Given the description of an element on the screen output the (x, y) to click on. 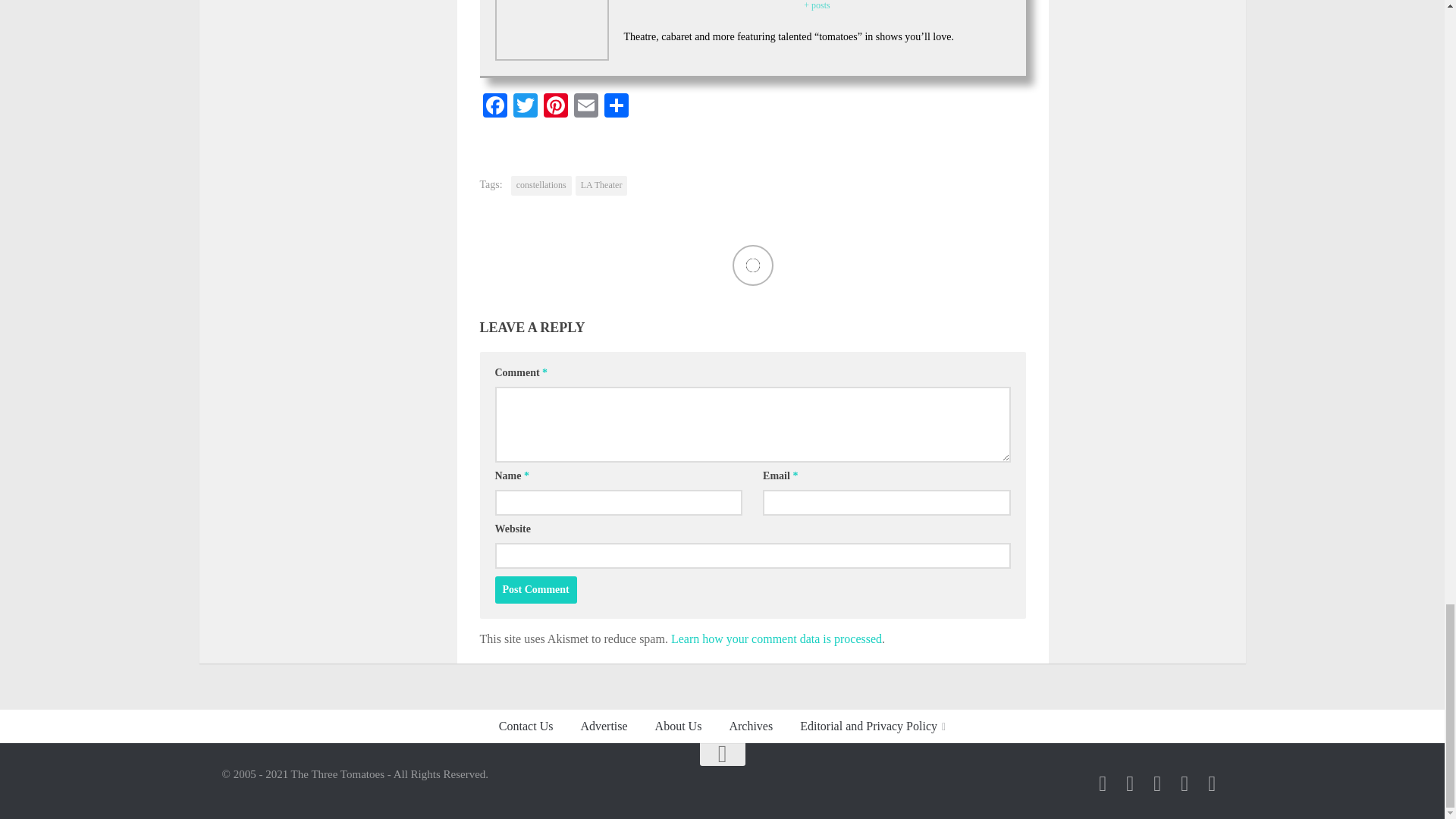
Email (584, 107)
Post Comment (535, 589)
Facebook (494, 107)
Twitter (524, 107)
Pinterest (555, 107)
